Given the description of an element on the screen output the (x, y) to click on. 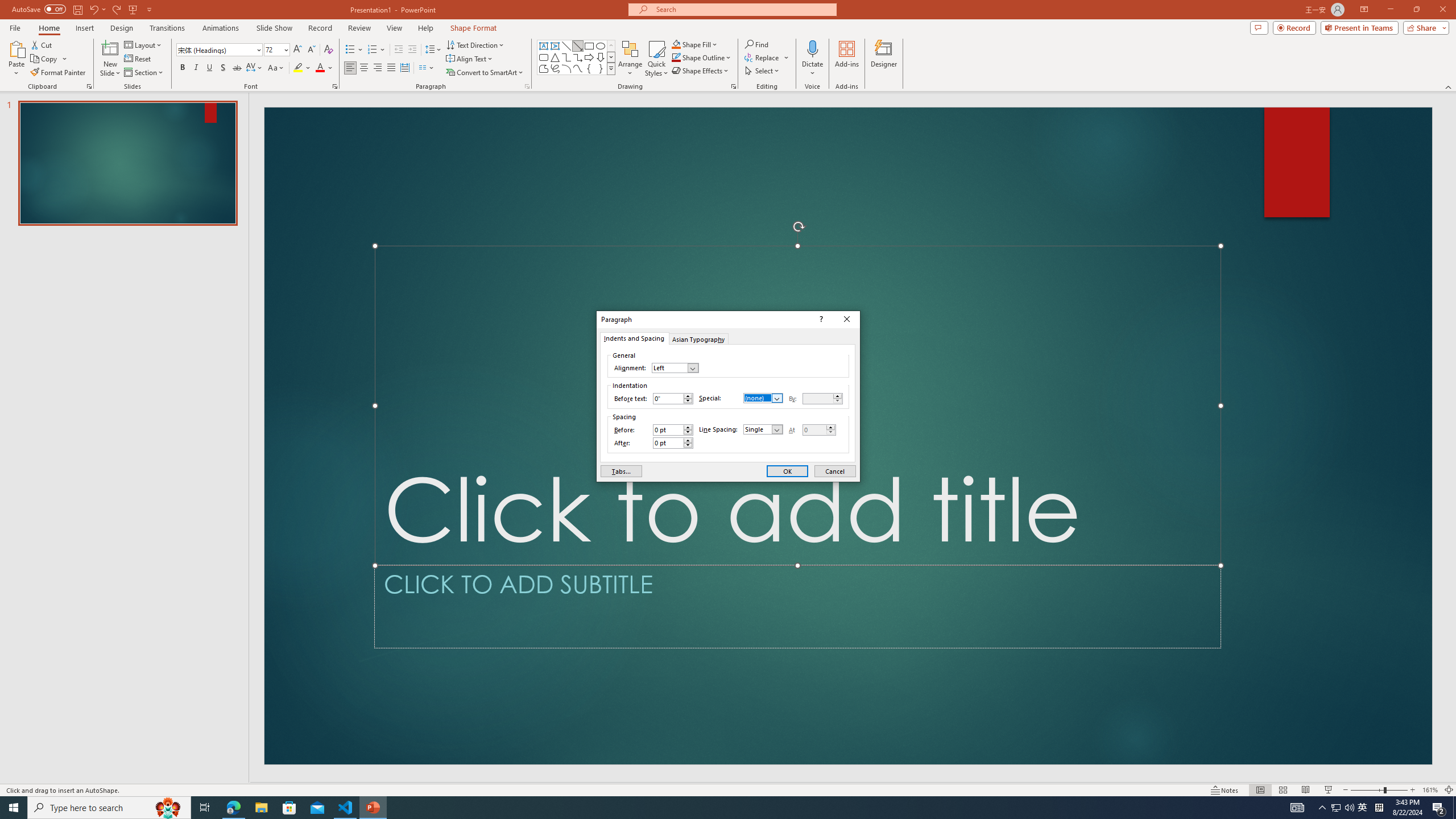
By (822, 398)
Search highlights icon opens search home window (167, 807)
User Promoted Notification Area (1342, 807)
Bold (182, 67)
Subtitle TextBox (797, 606)
Shape Outline (701, 56)
Increase Indent (412, 49)
Rectangle: Rounded Corners (543, 57)
